Given the description of an element on the screen output the (x, y) to click on. 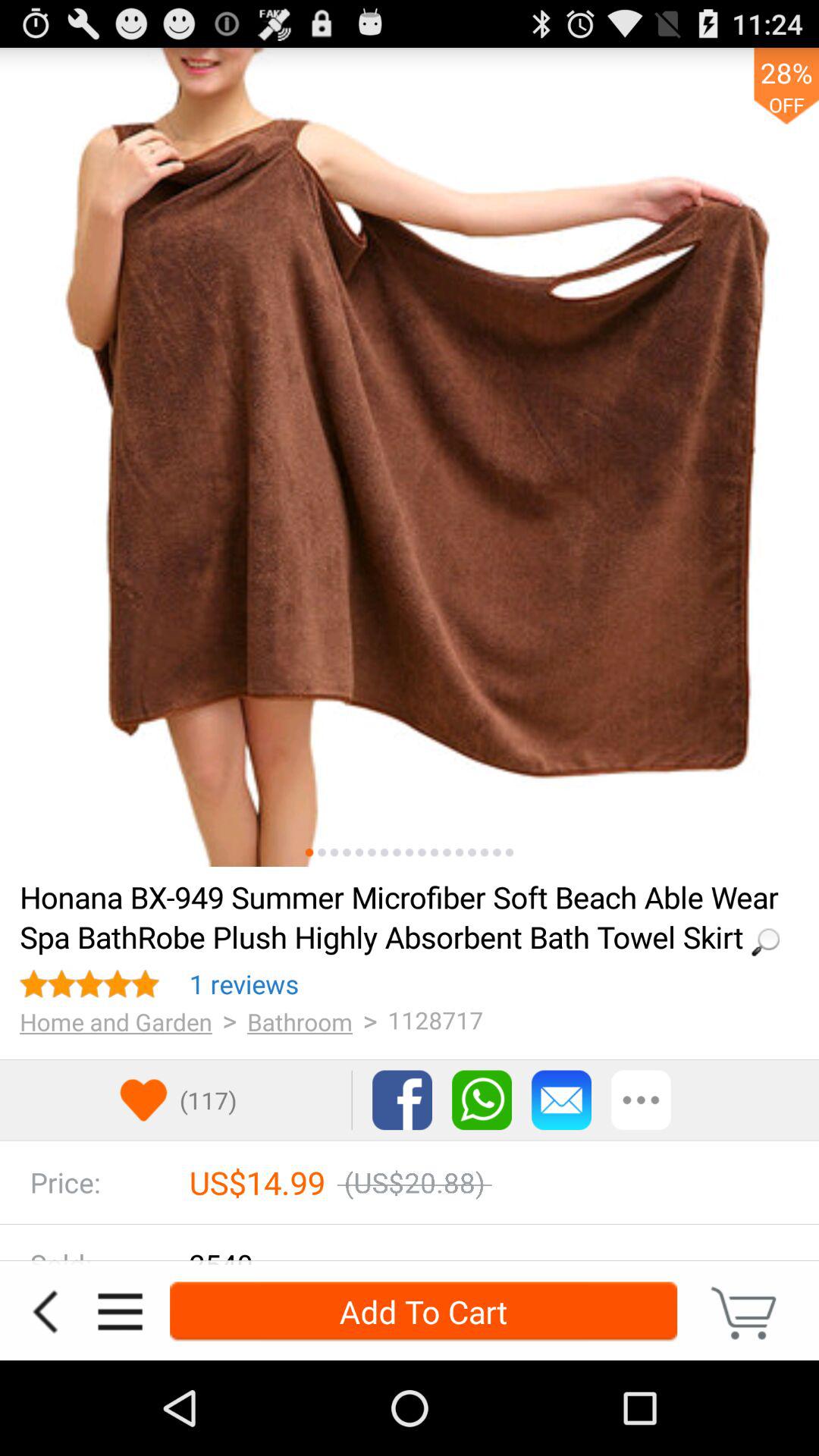
choose the item above the loading... (472, 852)
